Given the description of an element on the screen output the (x, y) to click on. 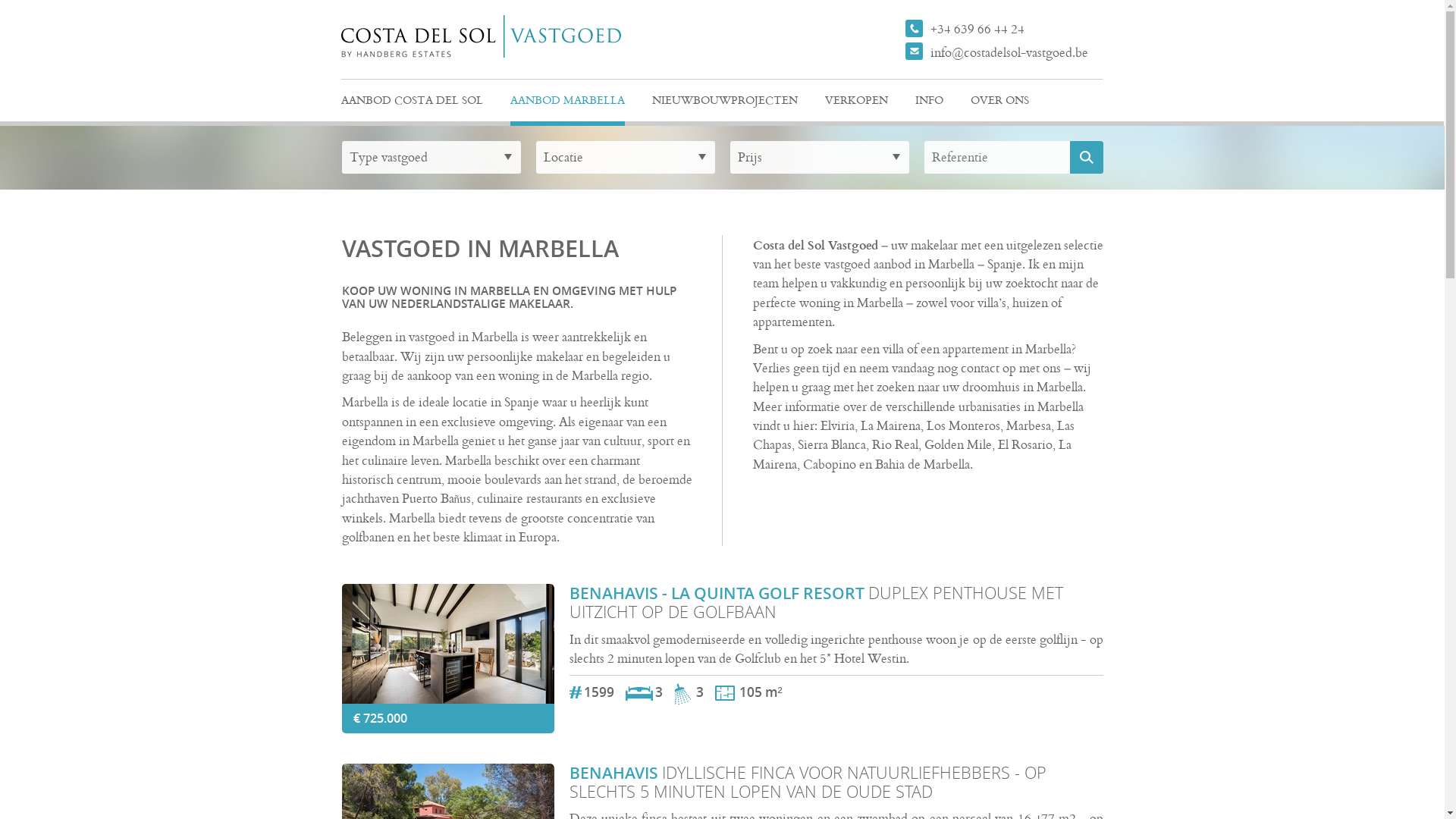
info@costadelsol-vastgoed.be Element type: text (1003, 52)
OVER ONS Element type: text (999, 102)
AANBOD MARBELLA Element type: text (566, 102)
INFO Element type: text (928, 102)
AANBOD COSTA DEL SOL Element type: text (412, 102)
NIEUWBOUWPROJECTEN Element type: text (724, 102)
VERKOPEN Element type: text (856, 102)
